Given the description of an element on the screen output the (x, y) to click on. 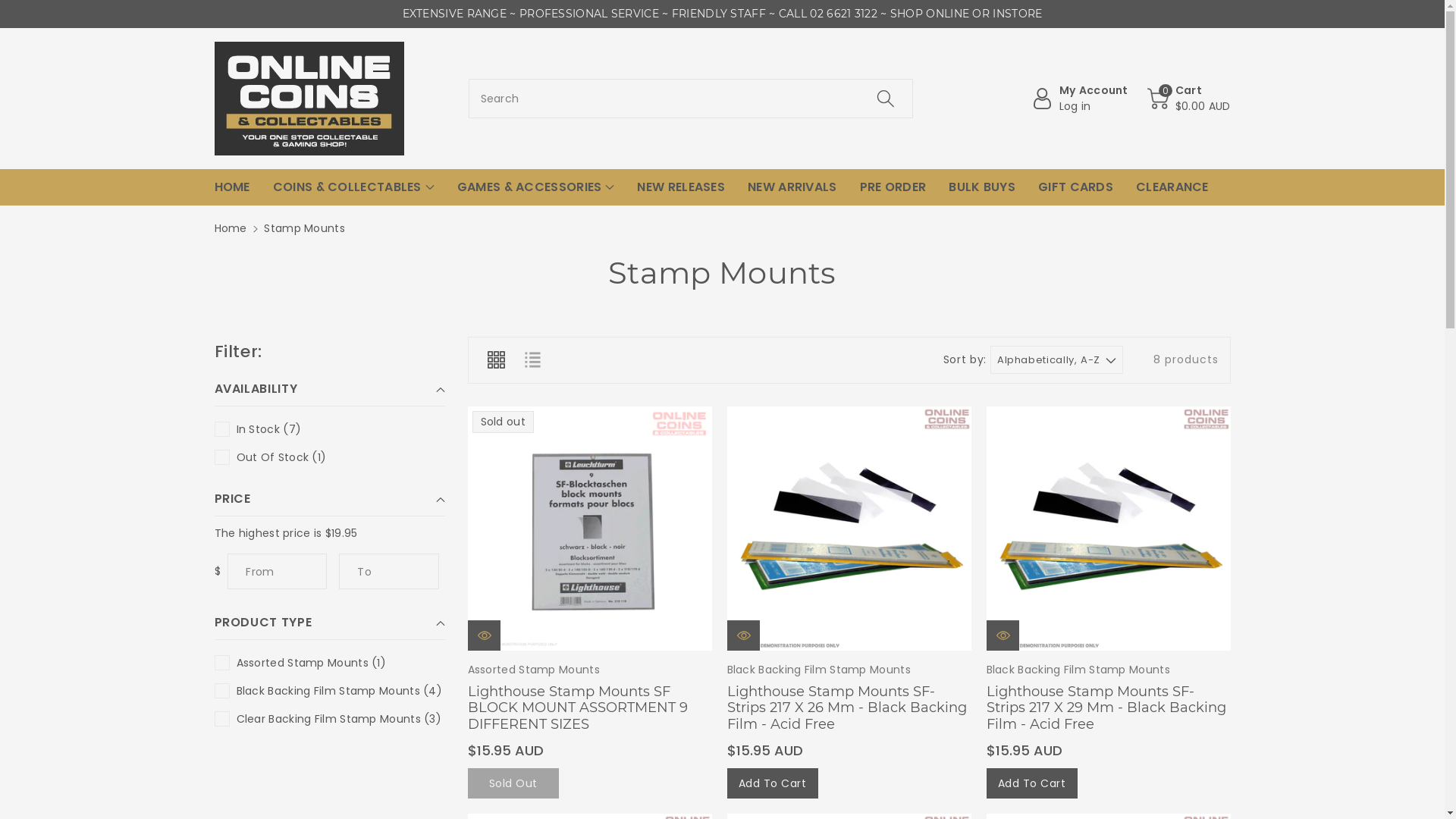
0
Cart
$0.00 AUD Element type: text (1188, 98)
PRE ORDER Element type: text (892, 187)
HOME Element type: text (231, 187)
Sold Out Element type: text (512, 783)
BULK BUYS Element type: text (981, 187)
My Account
Log in Element type: text (1079, 98)
GIFT CARDS Element type: text (1075, 187)
NEW RELEASES Element type: text (680, 187)
CLEARANCE Element type: text (1171, 187)
NEW ARRIVALS Element type: text (792, 187)
Add To Cart Element type: text (771, 783)
Home Element type: text (229, 227)
Add To Cart Element type: text (1030, 783)
